Given the description of an element on the screen output the (x, y) to click on. 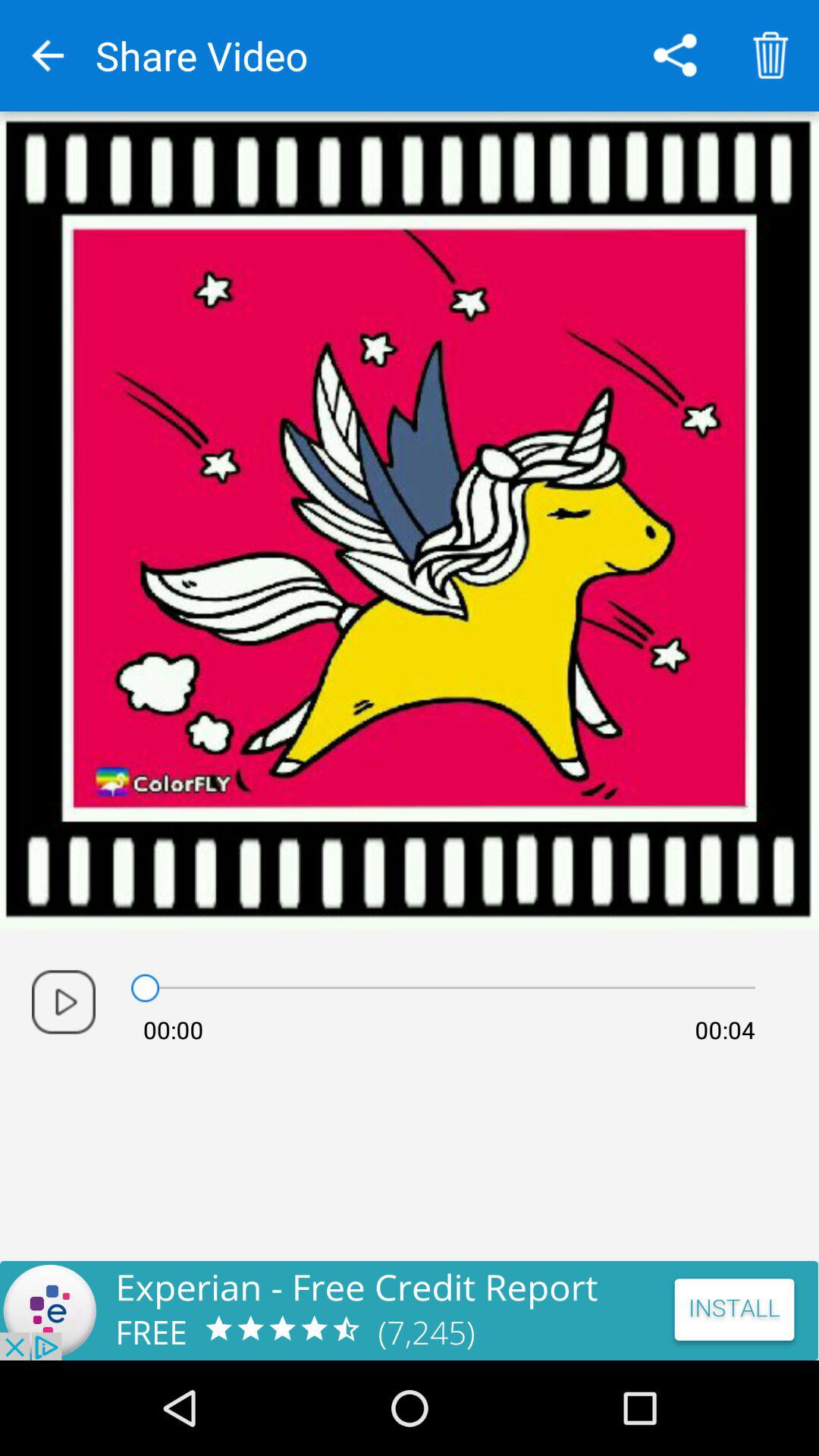
play song (63, 1001)
